Given the description of an element on the screen output the (x, y) to click on. 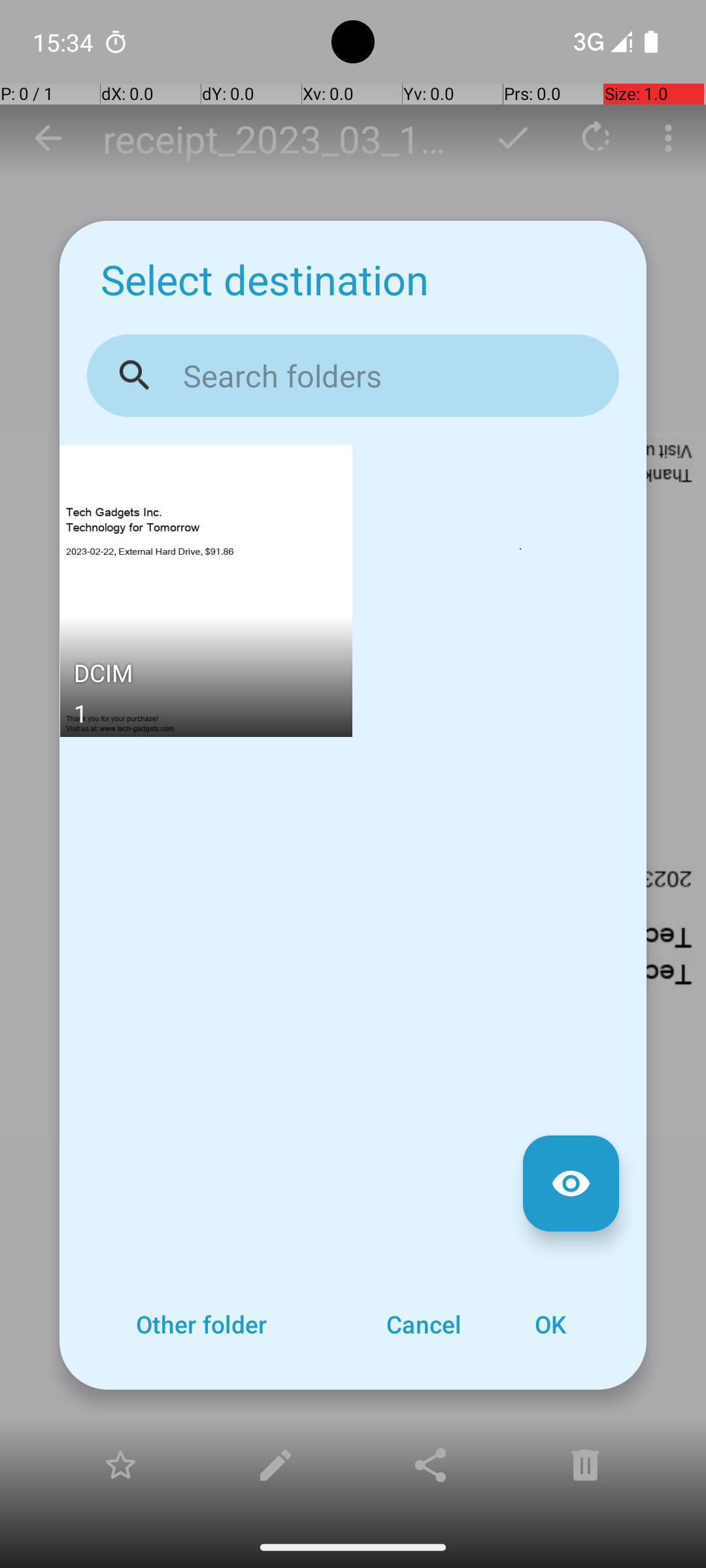
Select destination Element type: android.widget.TextView (264, 279)
Other folder Element type: android.widget.Button (200, 1324)
